Given the description of an element on the screen output the (x, y) to click on. 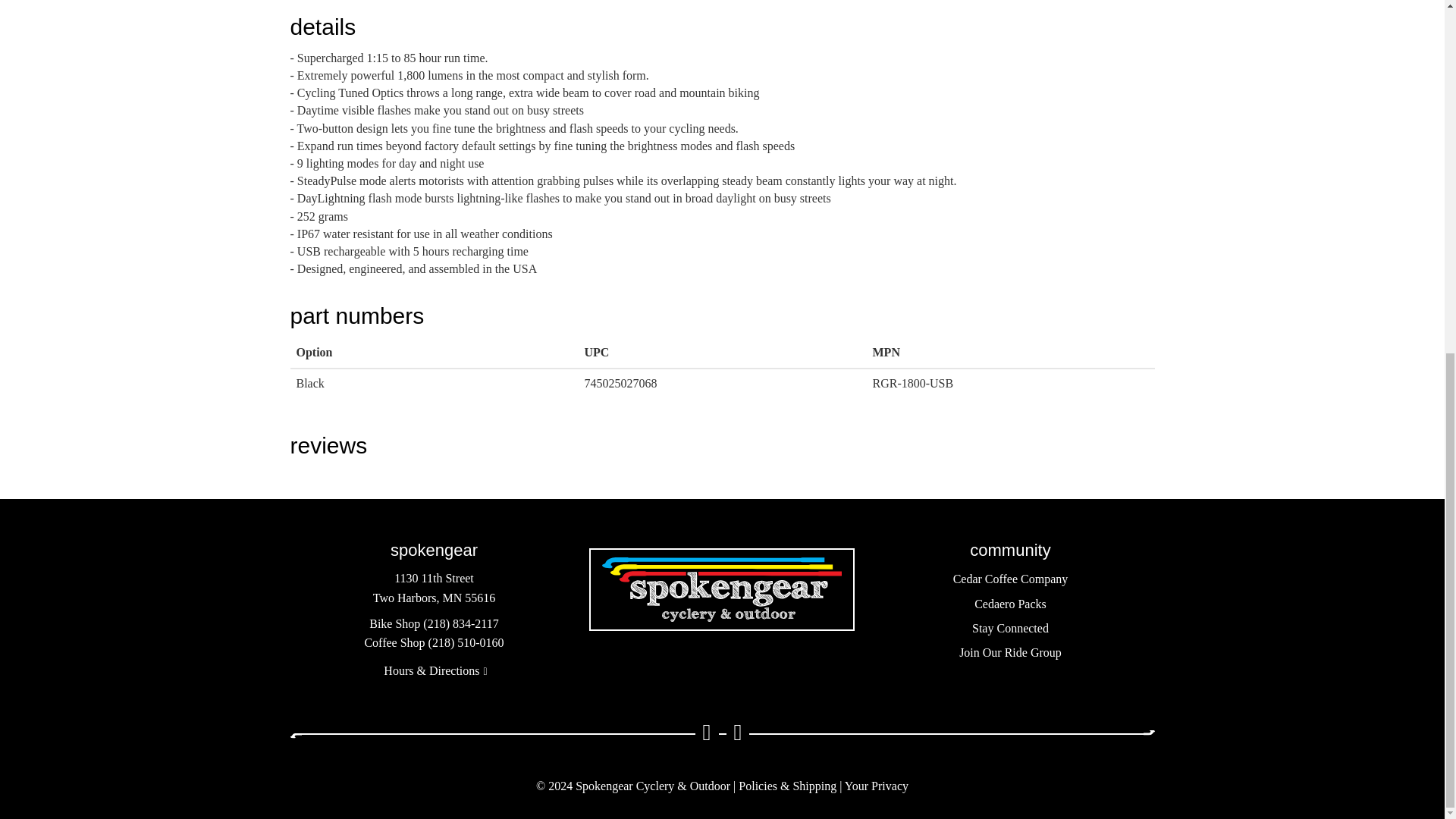
Follow Us on Facebook (707, 733)
Follow Us on Instagram (737, 732)
